Given the description of an element on the screen output the (x, y) to click on. 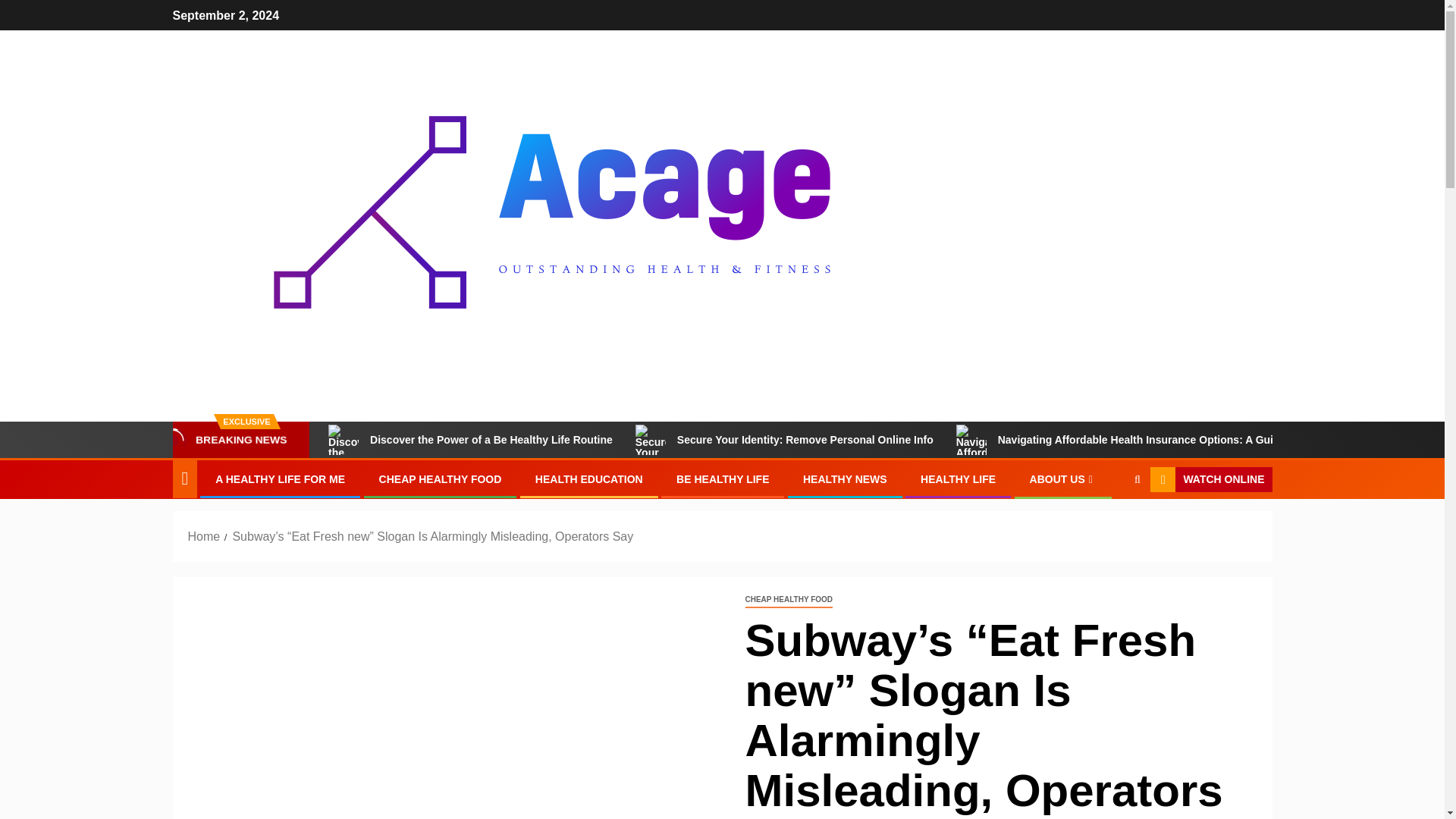
Discover the Power of a Be Healthy Life Routine (470, 440)
HEALTHY NEWS (844, 479)
Search (1107, 525)
CHEAP HEALTHY FOOD (788, 600)
BE HEALTHY LIFE (722, 479)
HEALTHY LIFE (957, 479)
ABOUT US (1062, 479)
A HEALTHY LIFE FOR ME (280, 479)
CHEAP HEALTHY FOOD (440, 479)
